Given the description of an element on the screen output the (x, y) to click on. 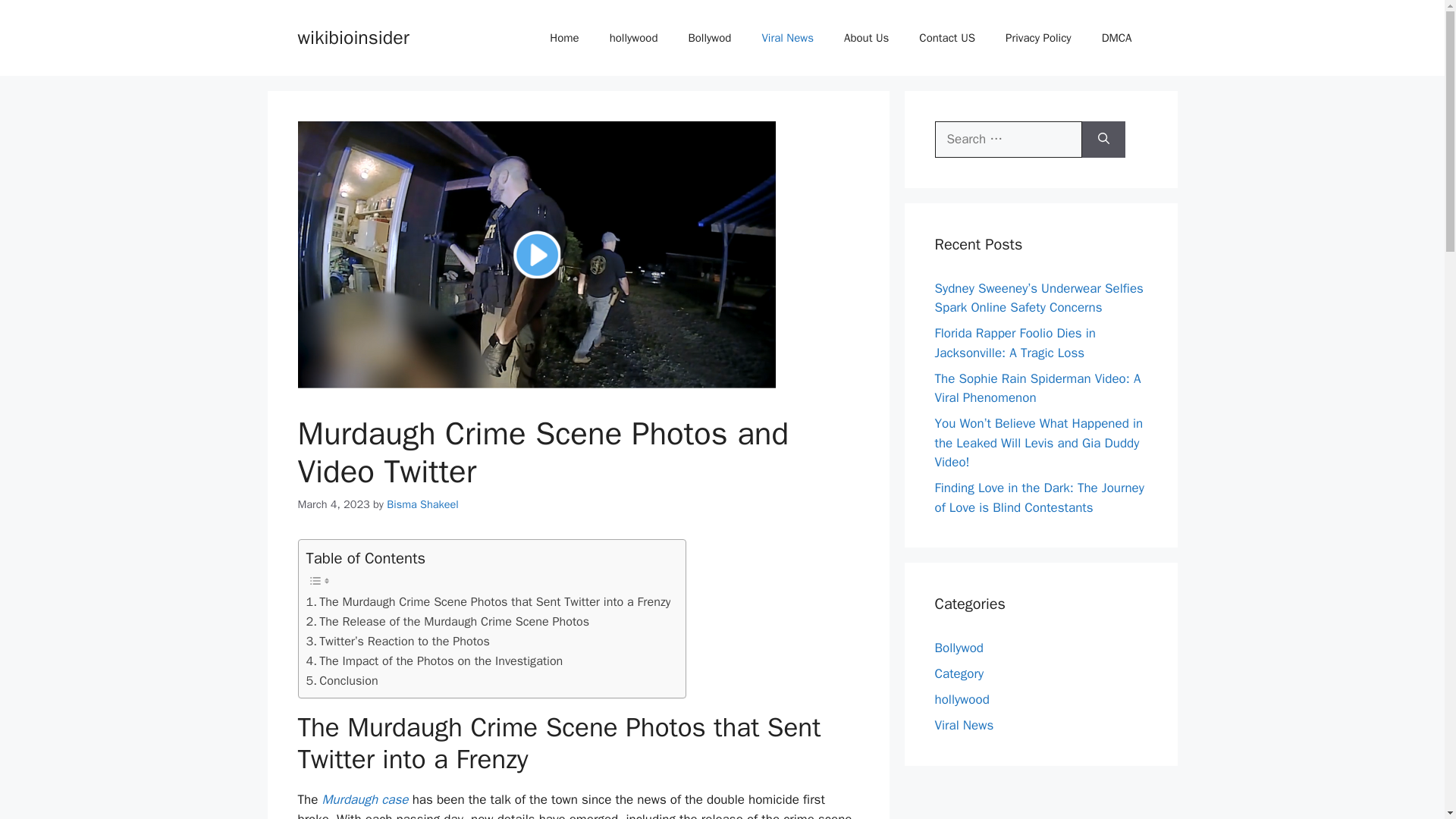
Home (564, 37)
The Sophie Rain Spiderman Video: A Viral Phenomenon (1037, 387)
Bollywod (959, 647)
Contact US (947, 37)
The Release of the Murdaugh Crime Scene Photos (447, 621)
hollywood (961, 699)
The Impact of the Photos on the Investigation (434, 660)
Conclusion (341, 680)
Florida Rapper Foolio Dies in Jacksonville: A Tragic Loss (1014, 343)
Bisma Shakeel (422, 504)
Conclusion (341, 680)
Privacy Policy (1038, 37)
The Release of the Murdaugh Crime Scene Photos (447, 621)
Viral News (963, 725)
